Given the description of an element on the screen output the (x, y) to click on. 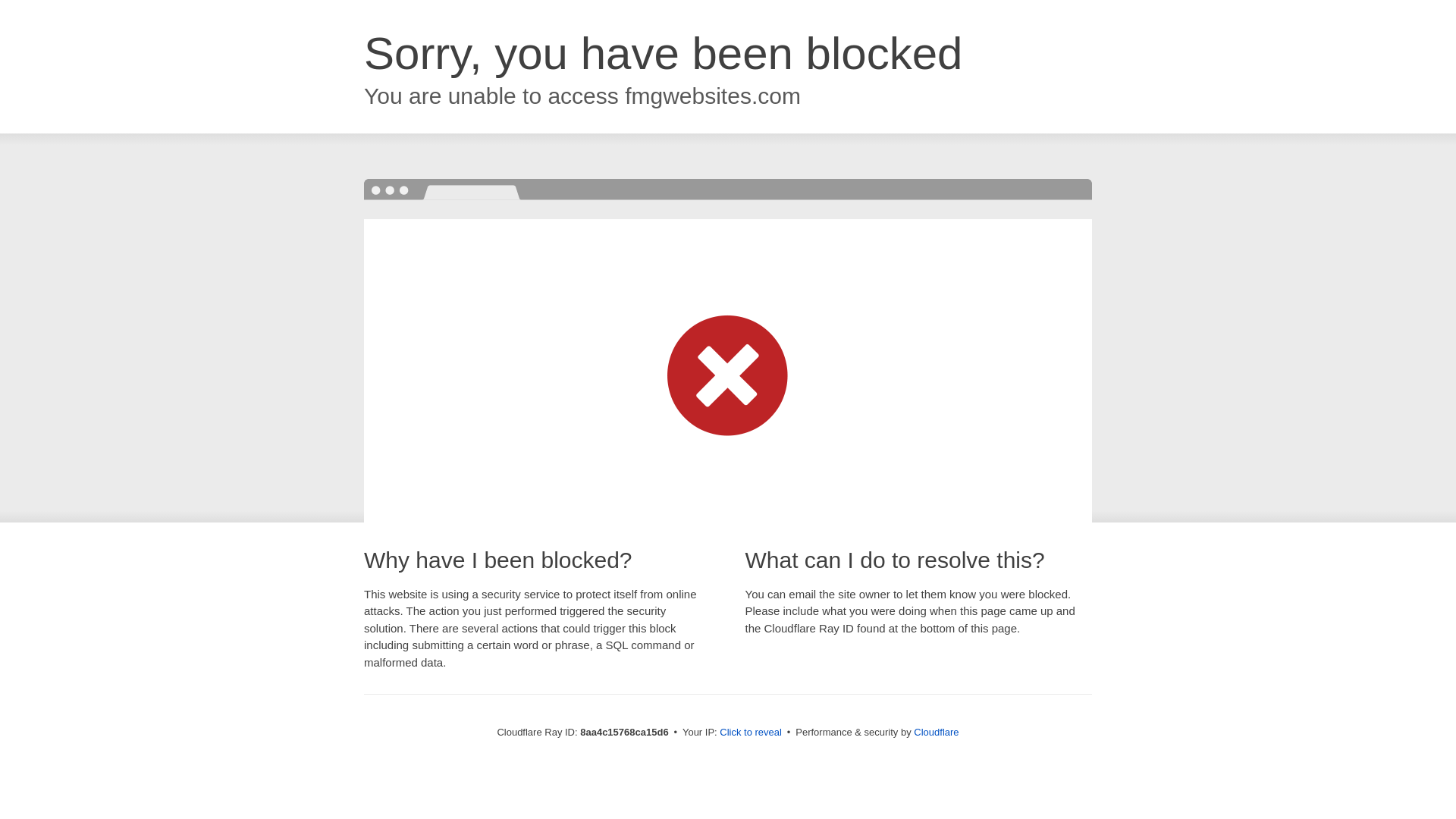
Click to reveal (750, 732)
Cloudflare (936, 731)
